Given the description of an element on the screen output the (x, y) to click on. 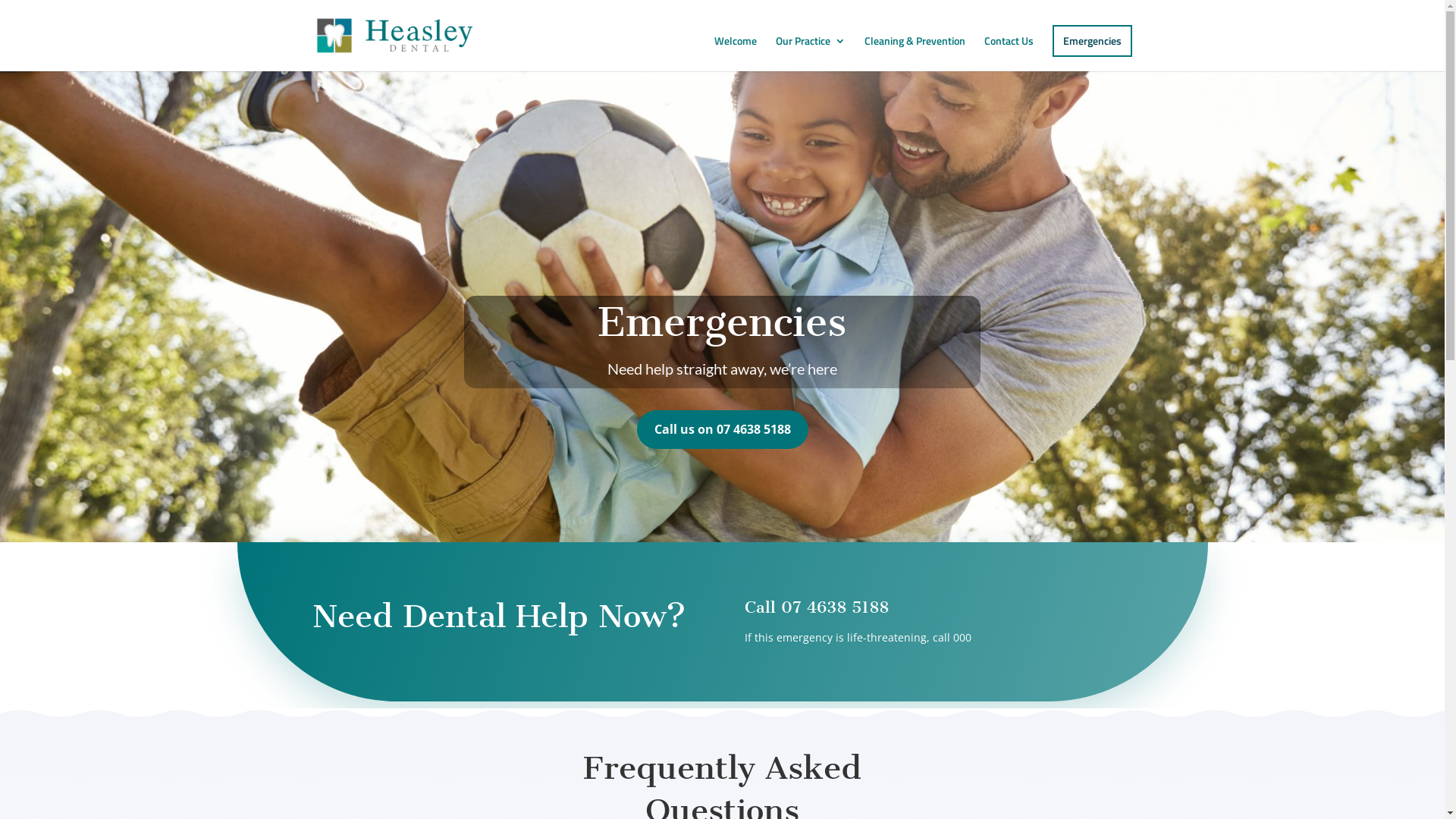
Welcome Element type: text (735, 53)
Contact Us Element type: text (1008, 53)
Our Practice Element type: text (809, 53)
Cleaning & Prevention Element type: text (914, 53)
Call us on 07 4638 5188 Element type: text (722, 429)
Emergencies Element type: text (1092, 40)
